Given the description of an element on the screen output the (x, y) to click on. 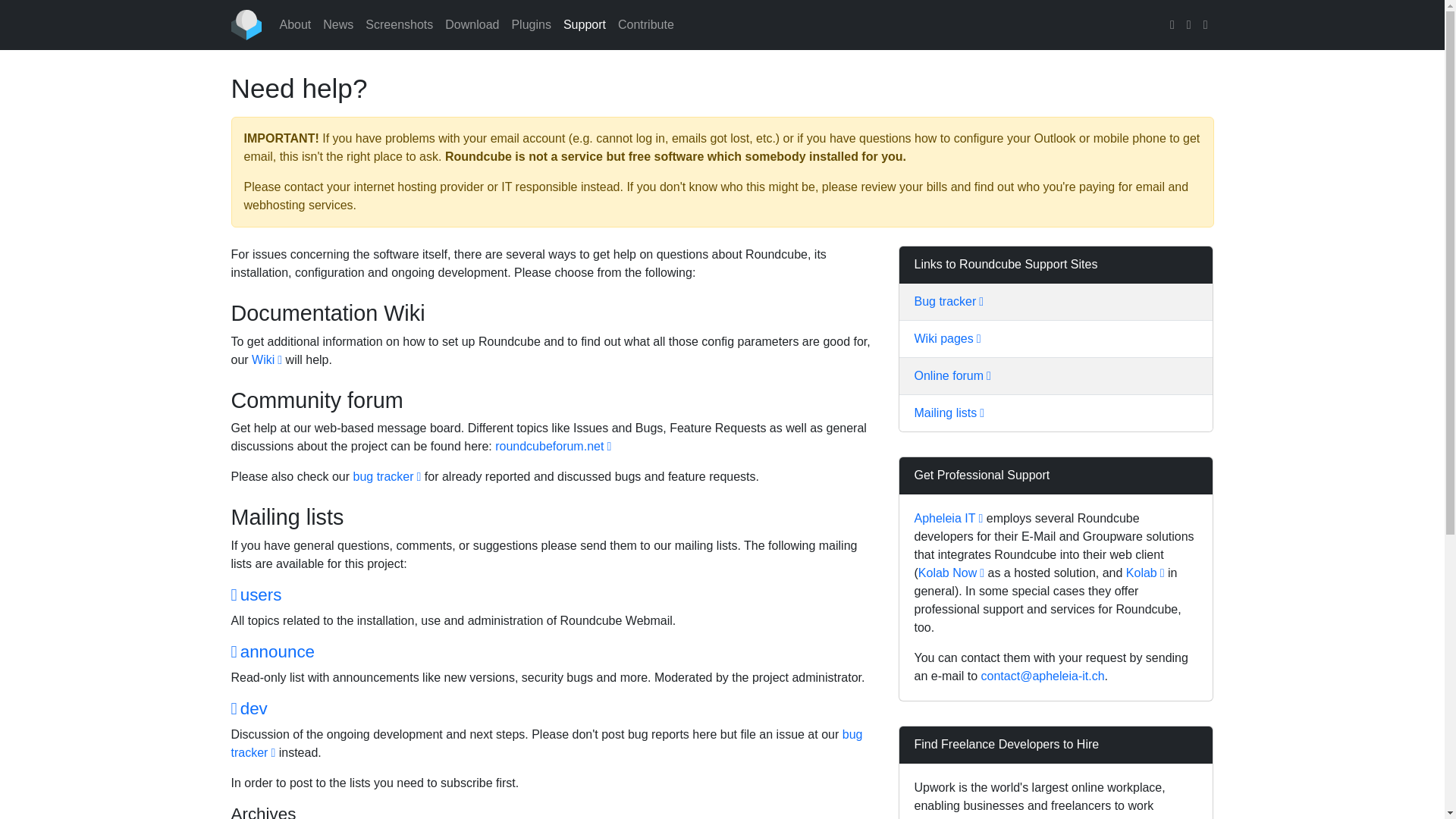
Online forum (952, 375)
Wiki (266, 359)
bug tracker (545, 743)
bug tracker (386, 476)
dev (248, 708)
Contribute (645, 24)
roundcubeforum.net (553, 445)
Apheleia IT (949, 517)
News (338, 24)
Plugins (530, 24)
Kolab Now (951, 572)
Kolab (1144, 572)
About (295, 24)
Bug tracker (949, 300)
Bug reporting system (545, 743)
